Given the description of an element on the screen output the (x, y) to click on. 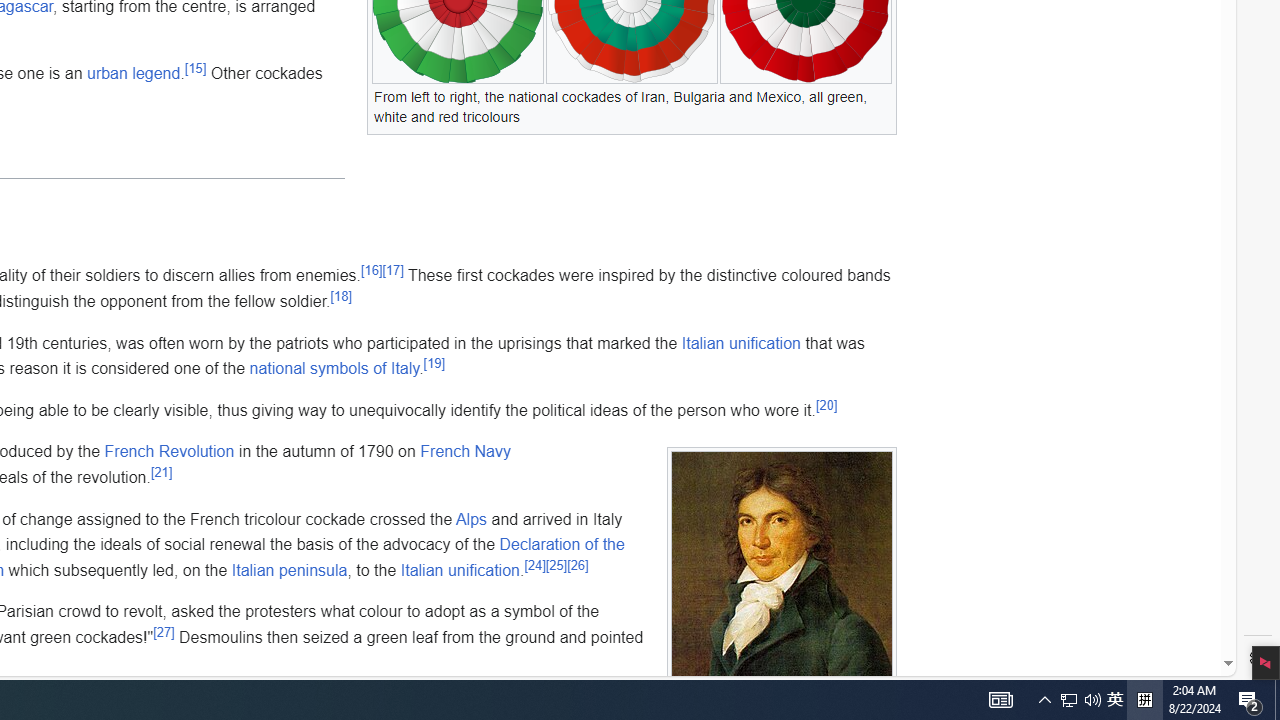
[20] (826, 404)
French Revolution (169, 451)
[17] (392, 270)
Italian peninsula (289, 569)
Alps (470, 518)
[18] (341, 295)
[19] (433, 362)
Italian unification (459, 569)
[25] (556, 565)
[15] (195, 69)
national symbols of Italy (334, 369)
[21] (160, 471)
French Navy (465, 451)
[27] (164, 632)
[24] (534, 565)
